Given the description of an element on the screen output the (x, y) to click on. 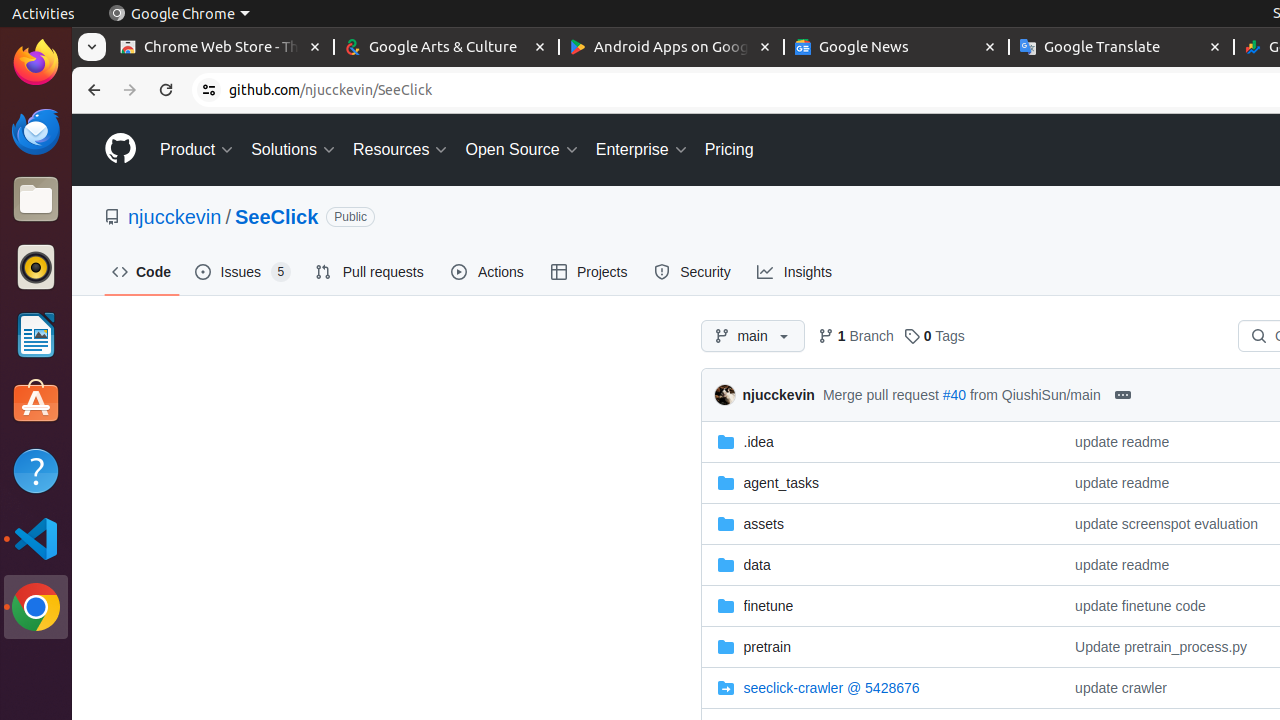
LibreOffice Writer Element type: push-button (36, 334)
Ubuntu Software Element type: push-button (36, 402)
finetune, (Directory) Element type: table-cell (880, 605)
Projects Element type: link (590, 272)
Pricing Element type: link (729, 150)
